Given the description of an element on the screen output the (x, y) to click on. 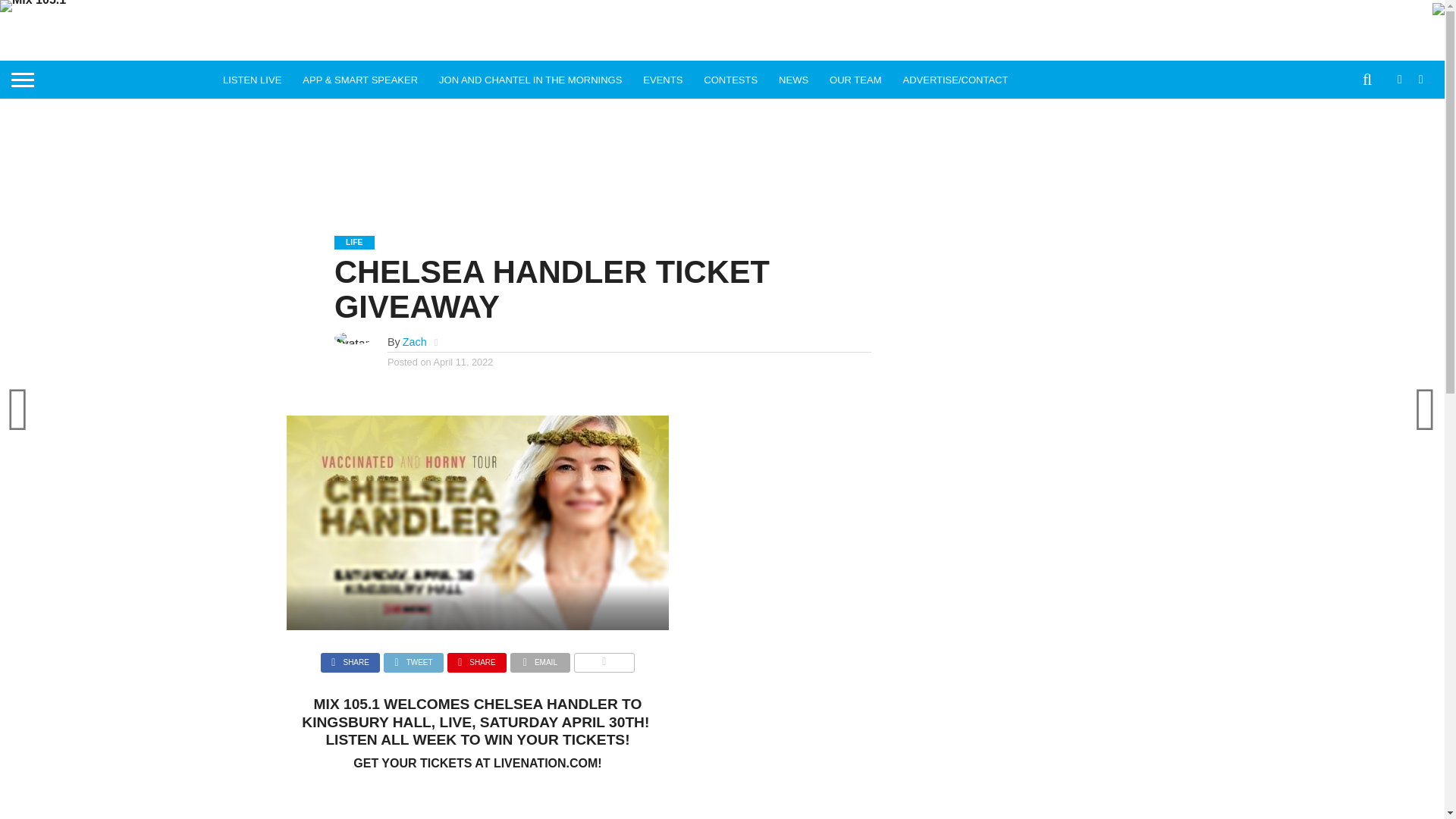
Posts by Zach (414, 341)
OUR TEAM (854, 79)
SHARE (476, 658)
JON AND CHANTEL IN THE MORNINGS (529, 79)
CONTESTS (730, 79)
NEWS (793, 79)
Pin This Post (476, 658)
Zach (414, 341)
Share on Facebook (350, 658)
EMAIL (540, 658)
